Given the description of an element on the screen output the (x, y) to click on. 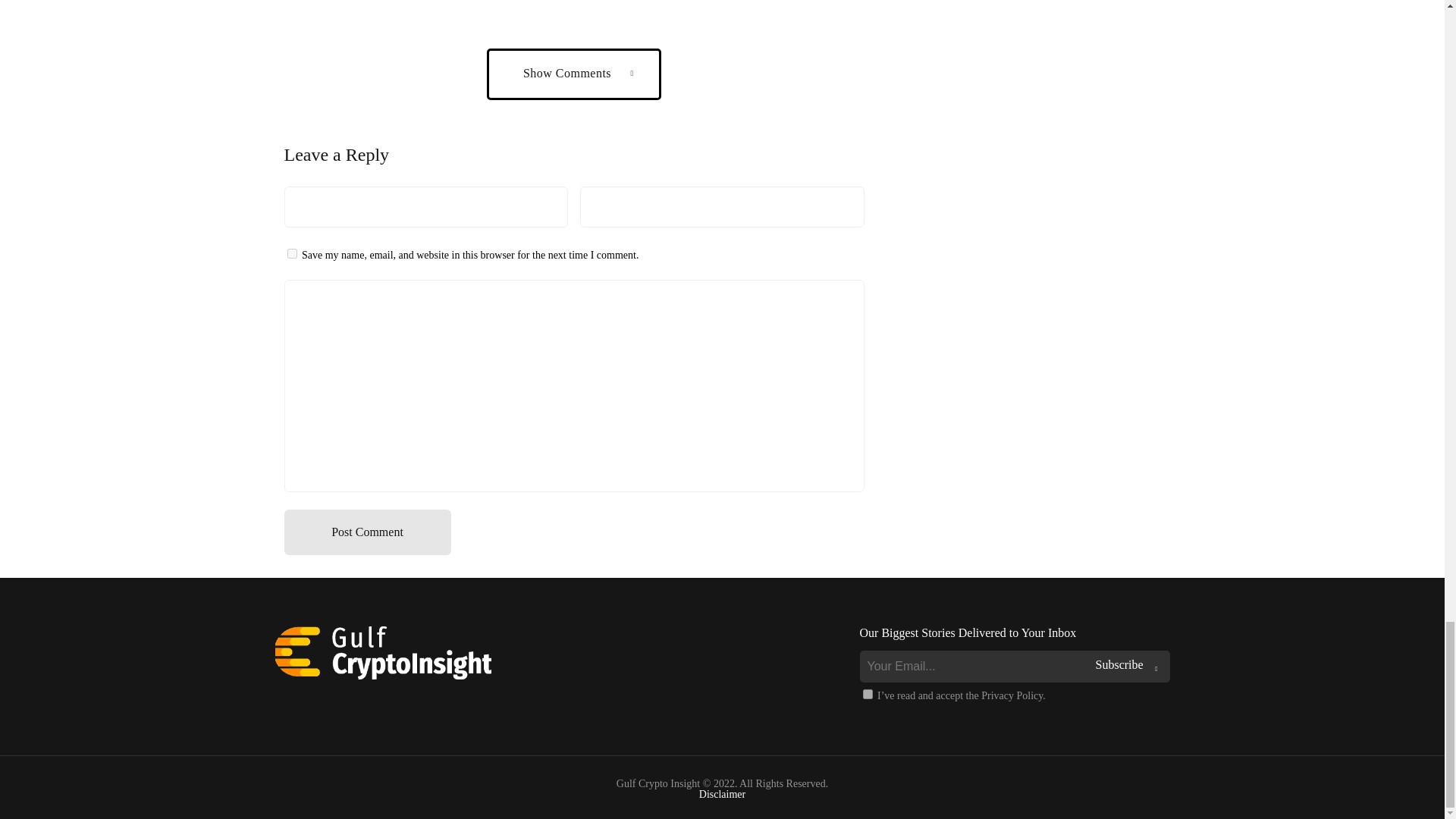
Post Comment (366, 532)
on (867, 694)
yes (291, 253)
